Given the description of an element on the screen output the (x, y) to click on. 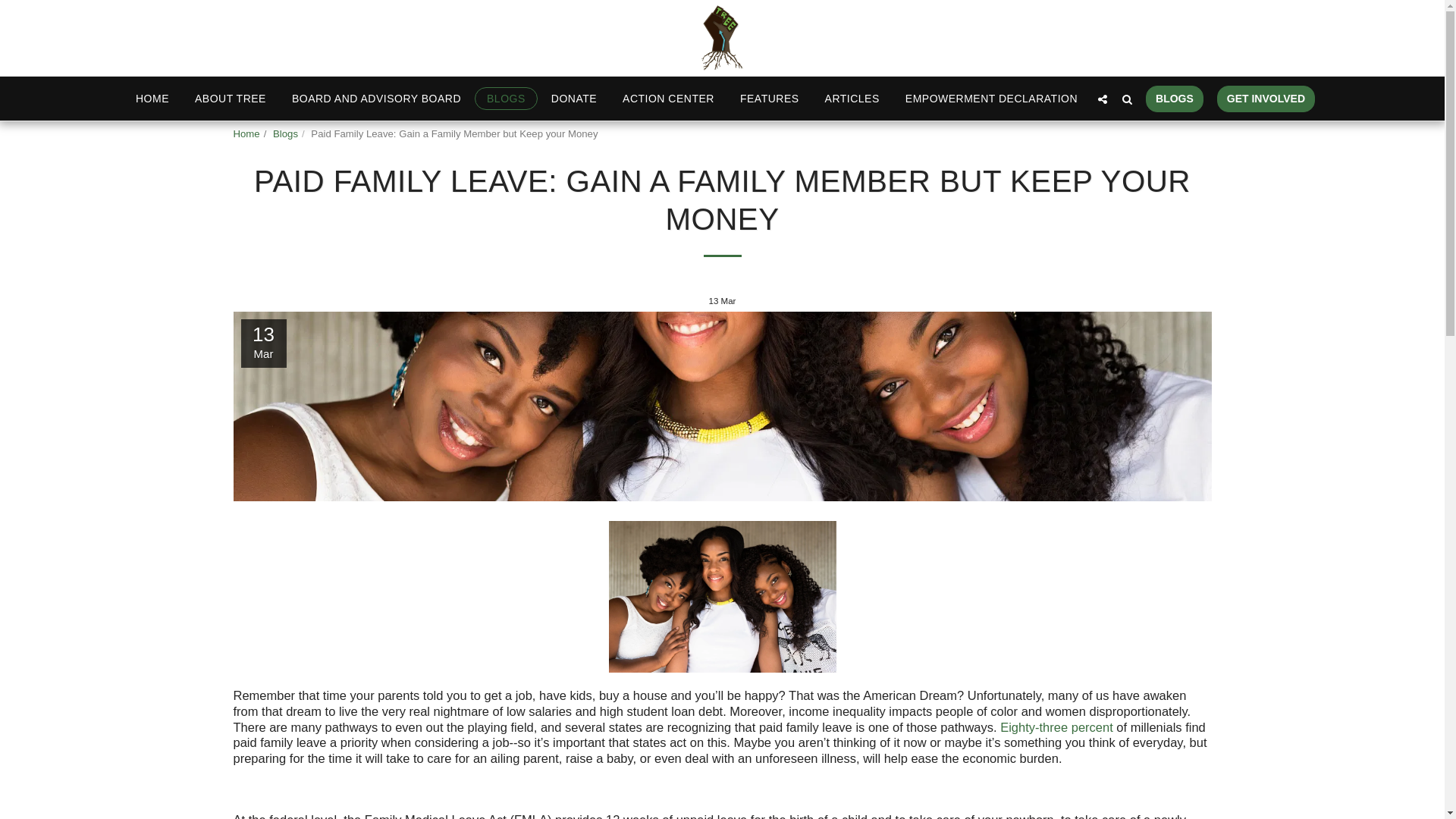
Eighty-three percent (1056, 726)
DONATE (573, 97)
FEATURES (769, 97)
ACTION CENTER (668, 97)
BLOGS (505, 97)
BLOGS (1174, 98)
EMPOWERMENT DECLARATION (991, 97)
GET INVOLVED (1265, 98)
